Given the description of an element on the screen output the (x, y) to click on. 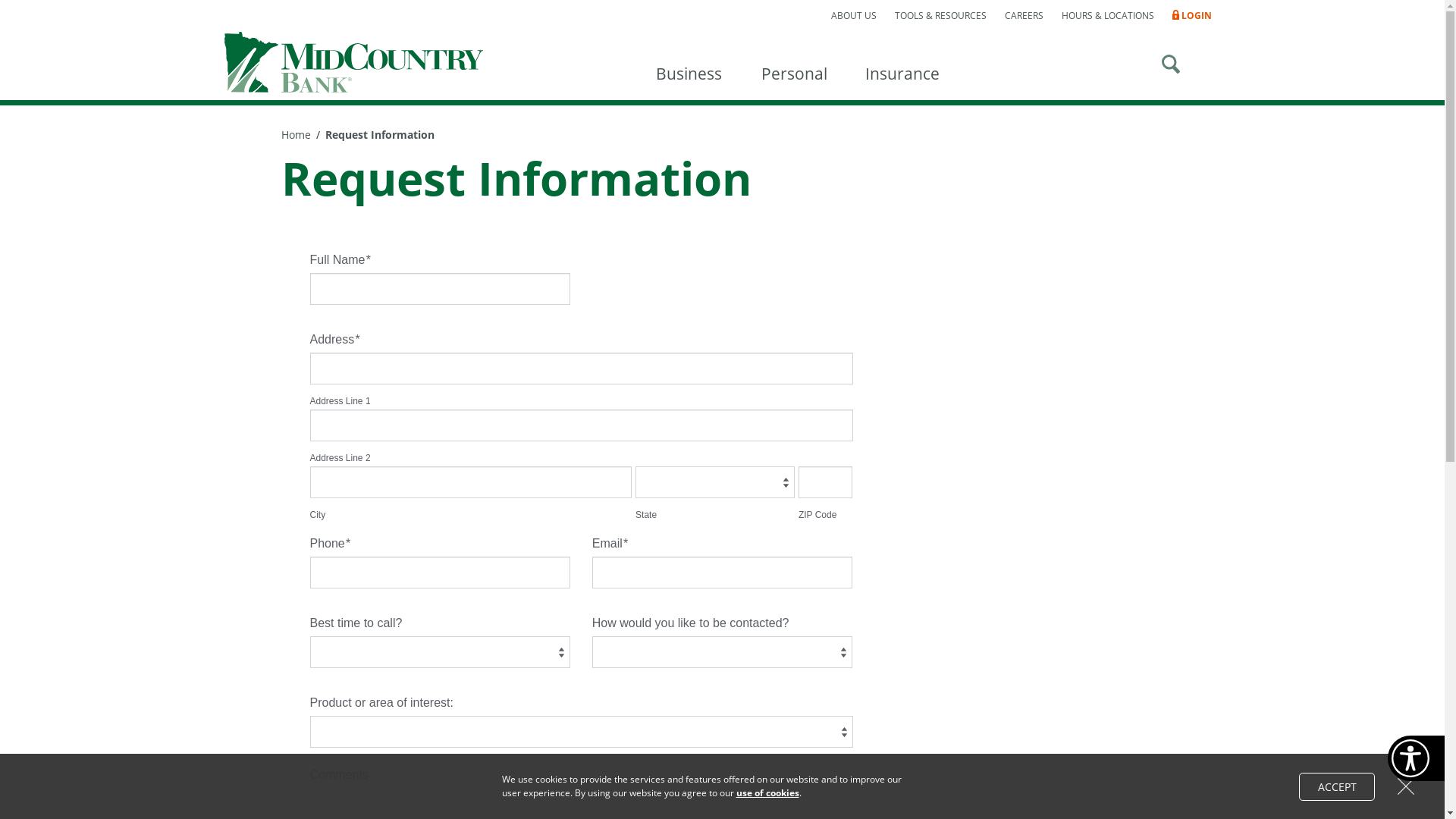
Previous Page Element type: text (29, 12)
Business Element type: text (689, 65)
Next Page Element type: text (18, 12)
LOGIN Element type: text (1196, 15)
TOOLS & RESOURCES Element type: text (940, 15)
ACCESSIBILITY
OPTIONS Element type: text (1415, 758)
HOURS & LOCATIONS Element type: text (1107, 15)
Home Element type: text (299, 134)
CAREERS Element type: text (1022, 15)
use of cookies Element type: text (766, 792)
ABOUT US Element type: text (853, 15)
Close this notice amd accept these terms. Element type: text (1405, 786)
ACCEPT
 THESE TERMS. Element type: text (1336, 785)
Search Element type: text (1170, 62)
Personal Element type: text (794, 65)
Insurance Element type: text (902, 65)
